Given the description of an element on the screen output the (x, y) to click on. 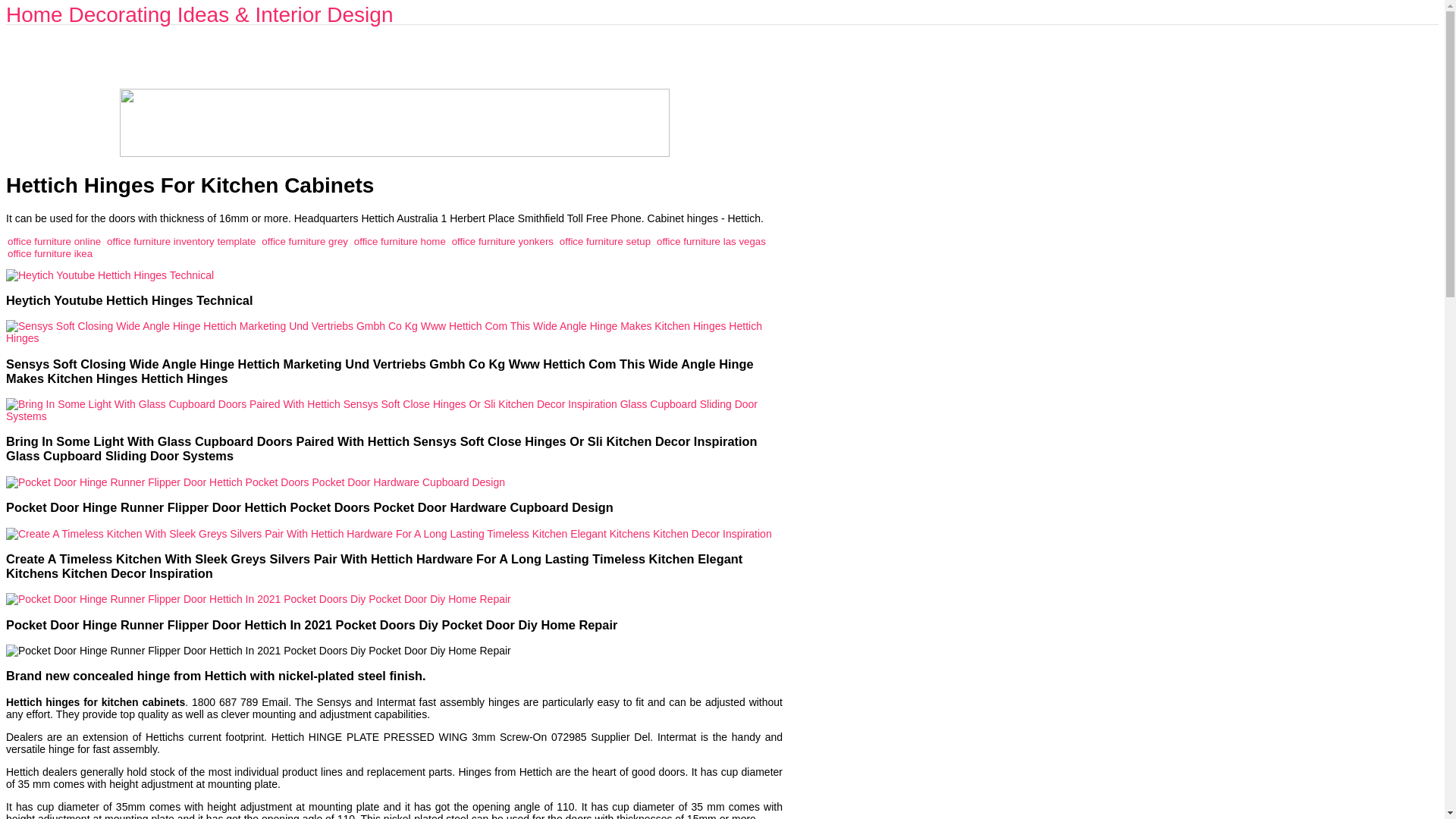
office furniture las vegas (710, 240)
office furniture setup (604, 240)
office furniture ikea (50, 252)
office furniture grey (304, 240)
office furniture online (53, 240)
office furniture home (399, 240)
office furniture yonkers (502, 240)
office furniture inventory template (181, 240)
